Given the description of an element on the screen output the (x, y) to click on. 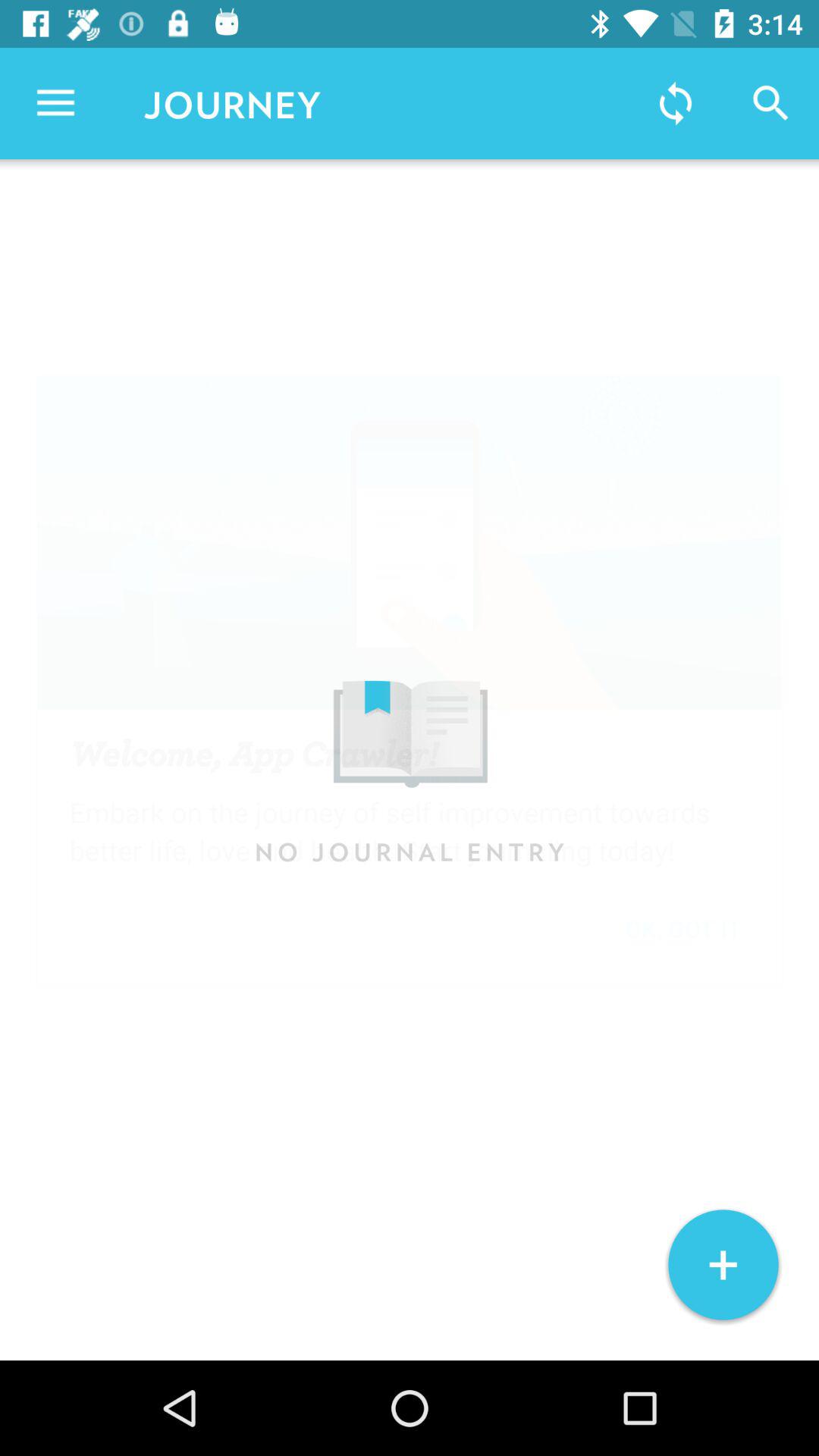
press the item to the right of the journey item (675, 103)
